Given the description of an element on the screen output the (x, y) to click on. 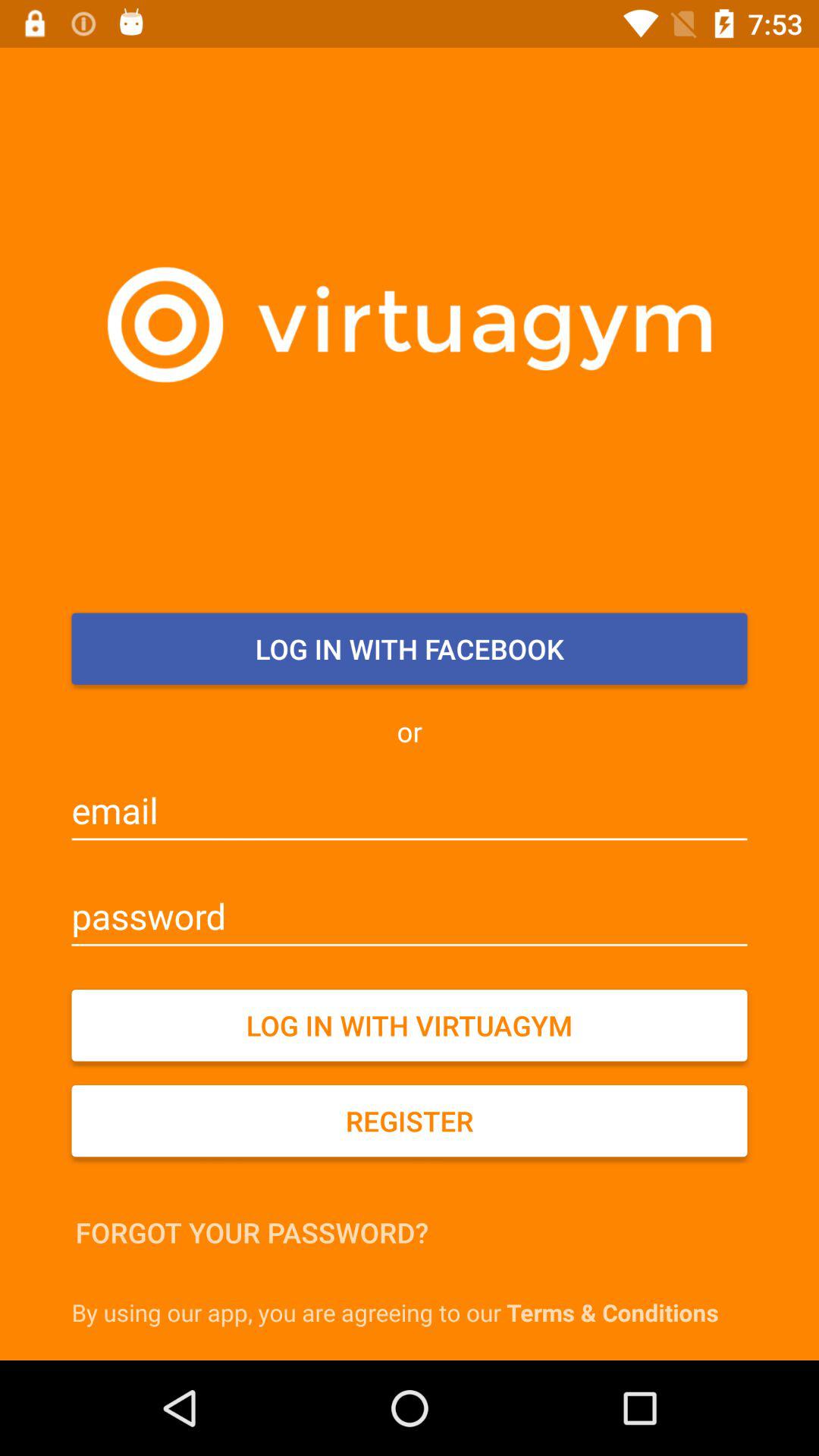
press forgot your password? icon (251, 1232)
